Given the description of an element on the screen output the (x, y) to click on. 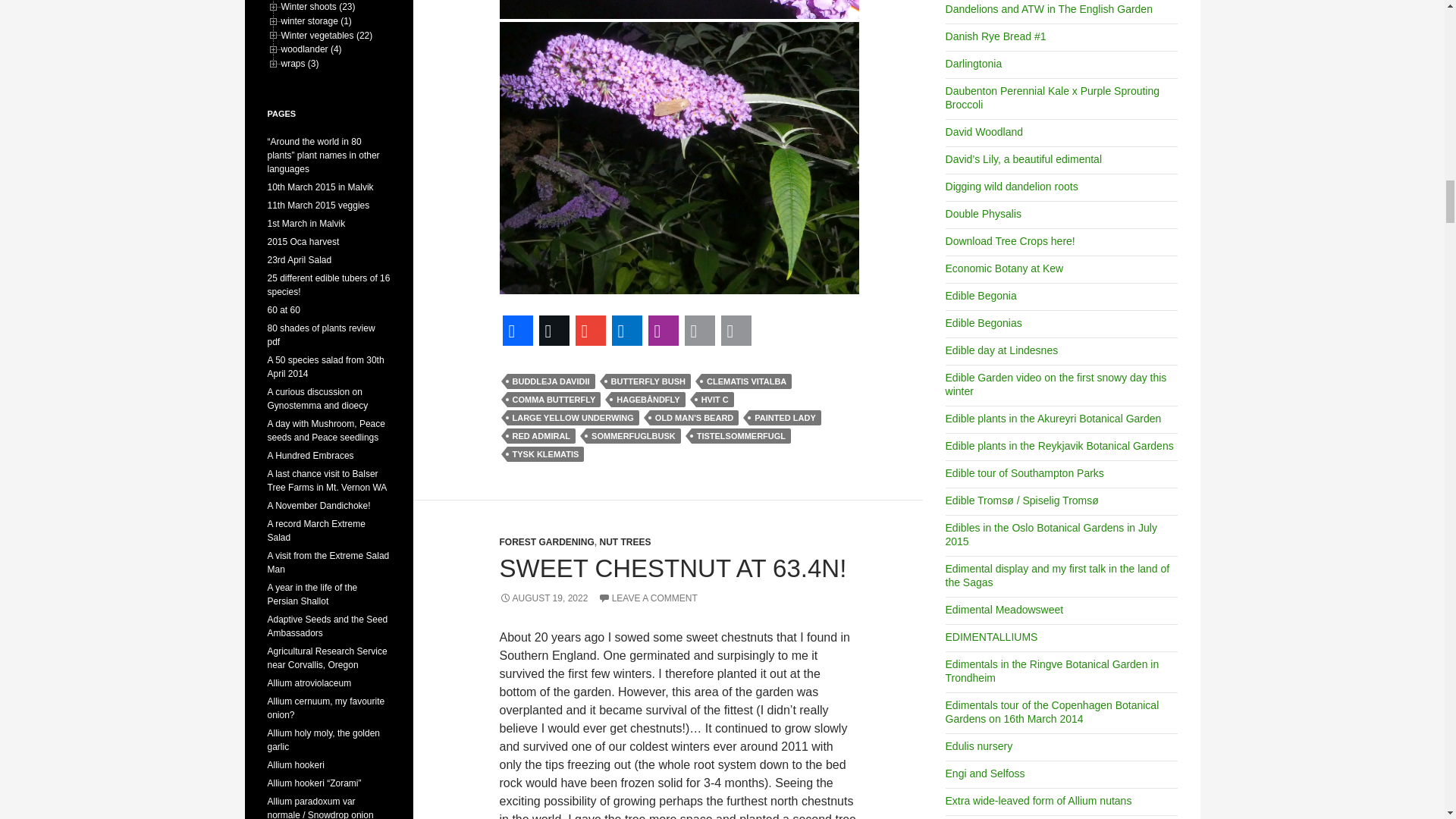
Email This (699, 330)
Yahoo! Mail (663, 330)
Mail (735, 330)
Google Gmail (590, 330)
Facebook (517, 330)
Outlook (626, 330)
